Given the description of an element on the screen output the (x, y) to click on. 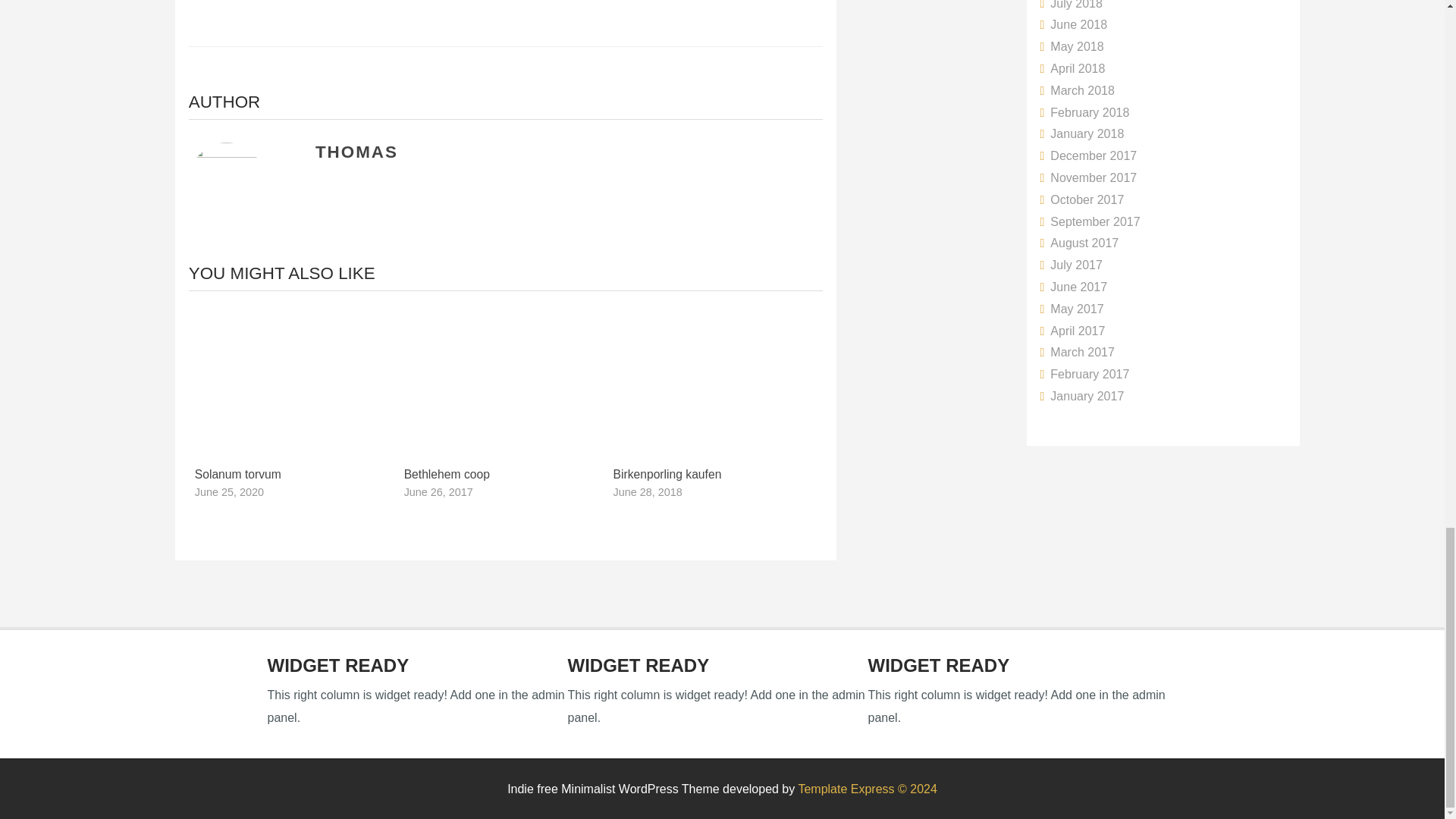
Posts by Thomas (356, 151)
THOMAS (356, 151)
Solanum torvum (238, 473)
Bethlehem coop (446, 473)
Birkenporling kaufen (666, 473)
